Given the description of an element on the screen output the (x, y) to click on. 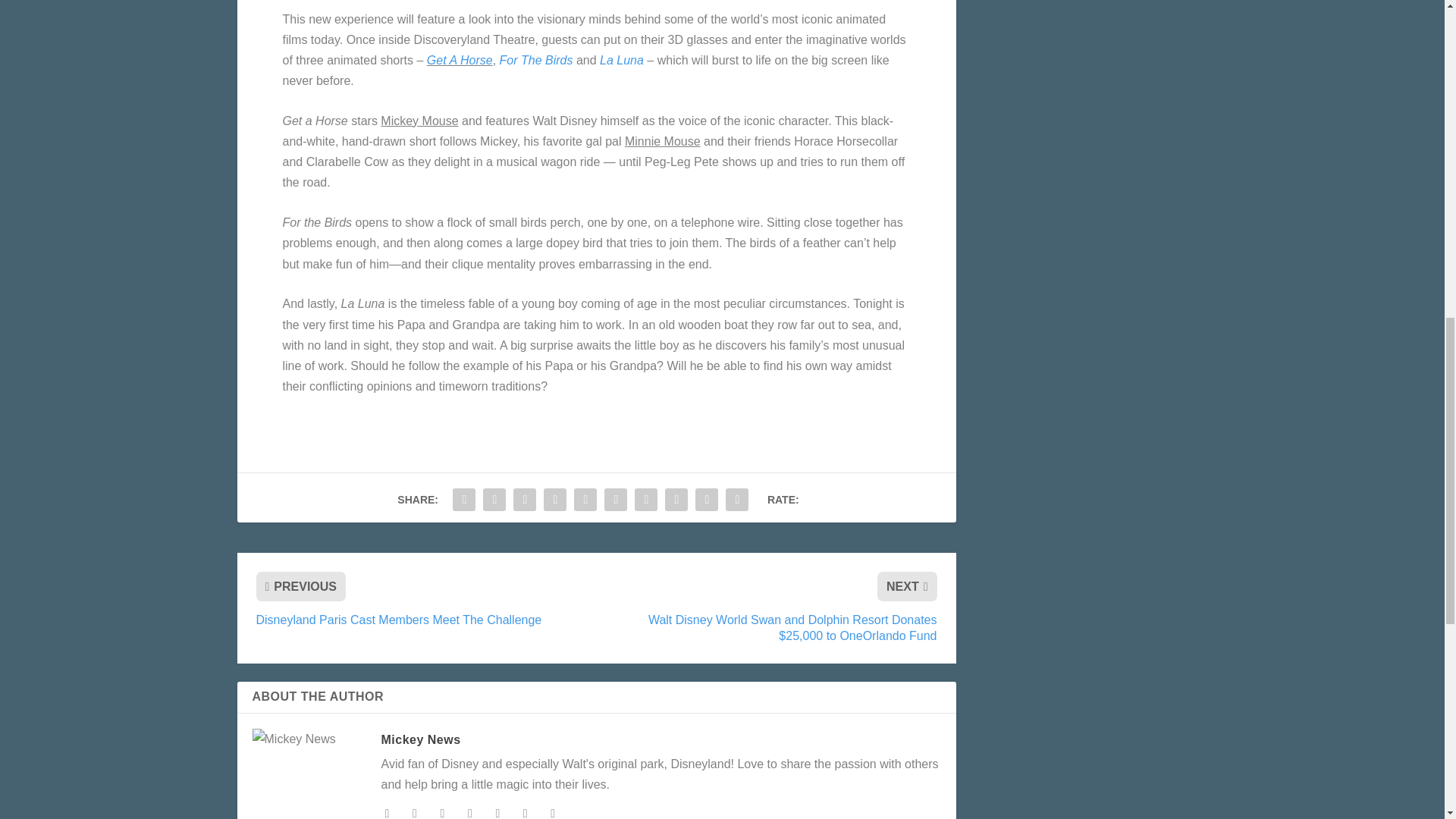
View all posts by Mickey News (420, 739)
